Given the description of an element on the screen output the (x, y) to click on. 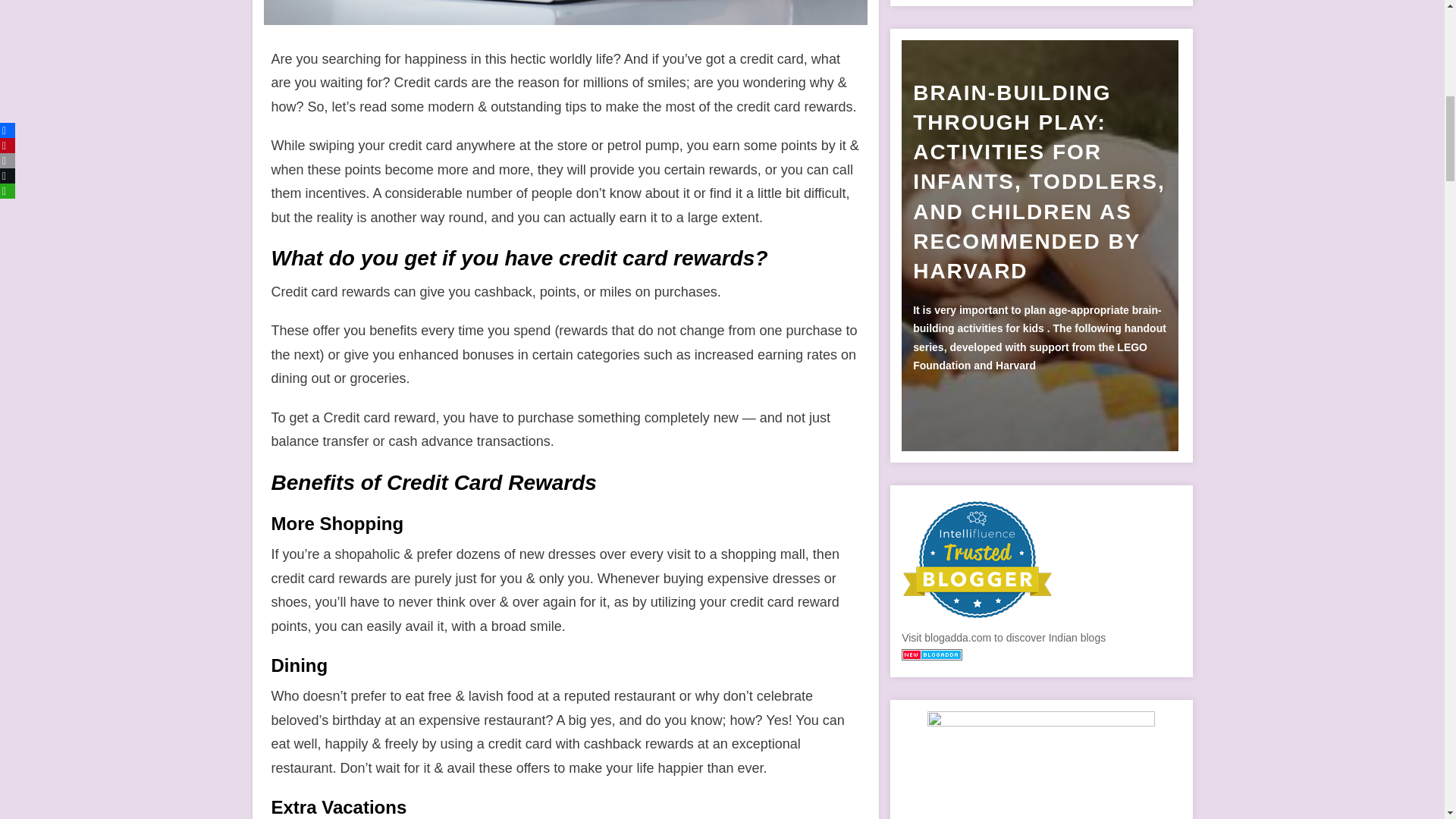
Visit blogadda.com to discover Indian blogs (931, 656)
